Given the description of an element on the screen output the (x, y) to click on. 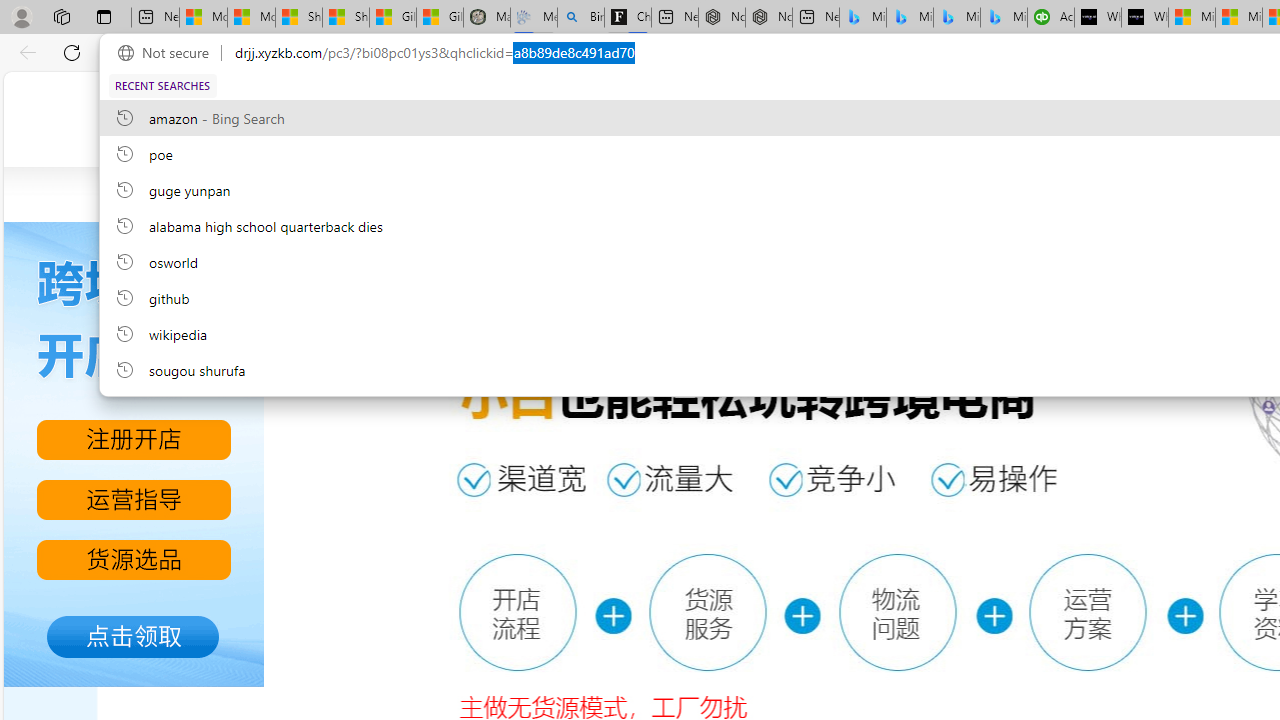
Accounting Software for Accountants, CPAs and Bookkeepers (1050, 17)
Class: logo (520, 116)
Microsoft Bing Travel - Stays in Bangkok, Bangkok, Thailand (910, 17)
Chloe Sorvino (628, 17)
Not secure (168, 53)
